Given the description of an element on the screen output the (x, y) to click on. 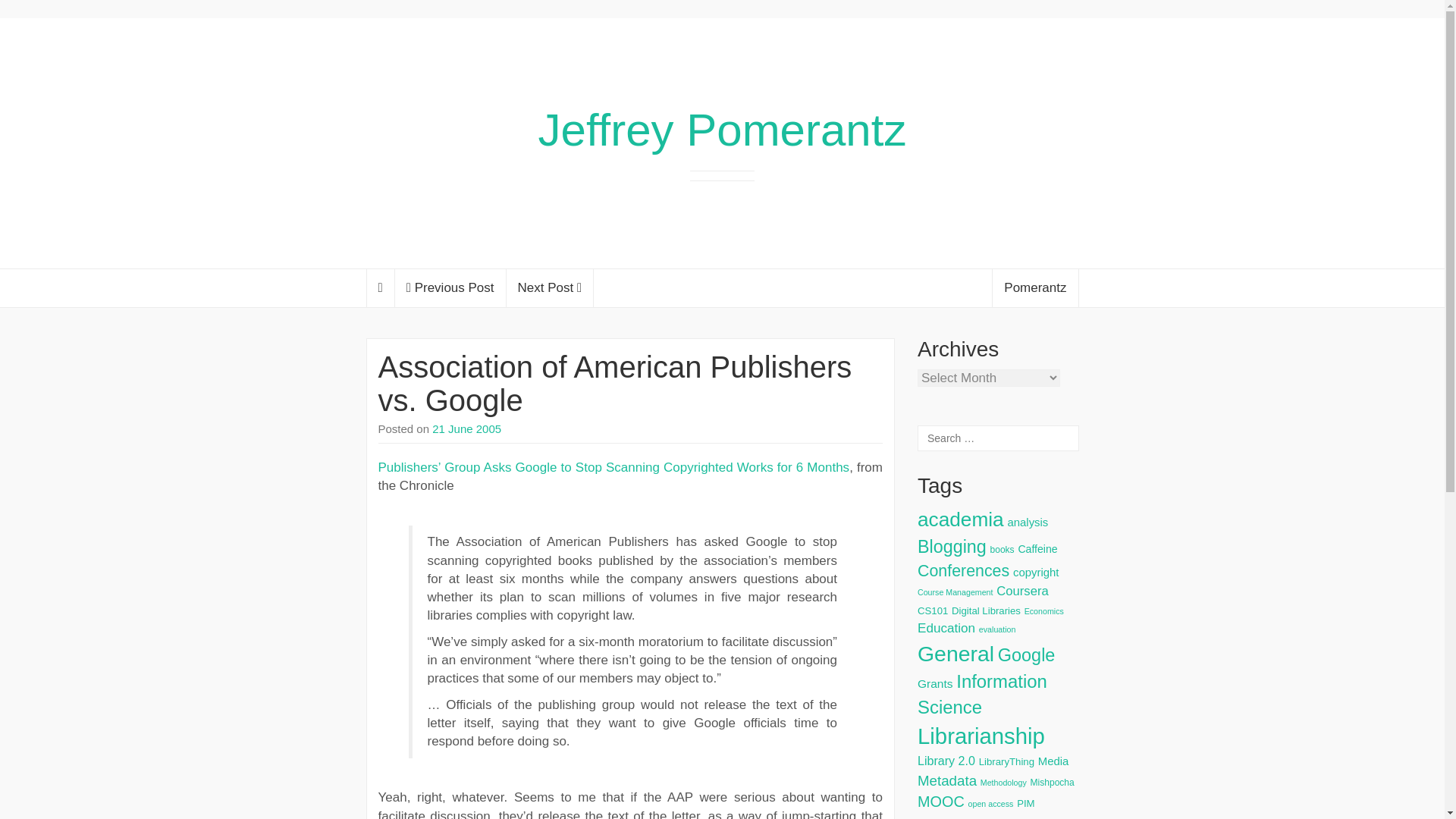
Previous Post (449, 288)
Next Post (550, 288)
LibraryThing (1005, 761)
Information Science (981, 693)
evaluation (997, 628)
Economics (1044, 610)
analysis (1027, 521)
Librarianship (981, 735)
CS101 (932, 610)
Pomerantz (1034, 288)
